Given the description of an element on the screen output the (x, y) to click on. 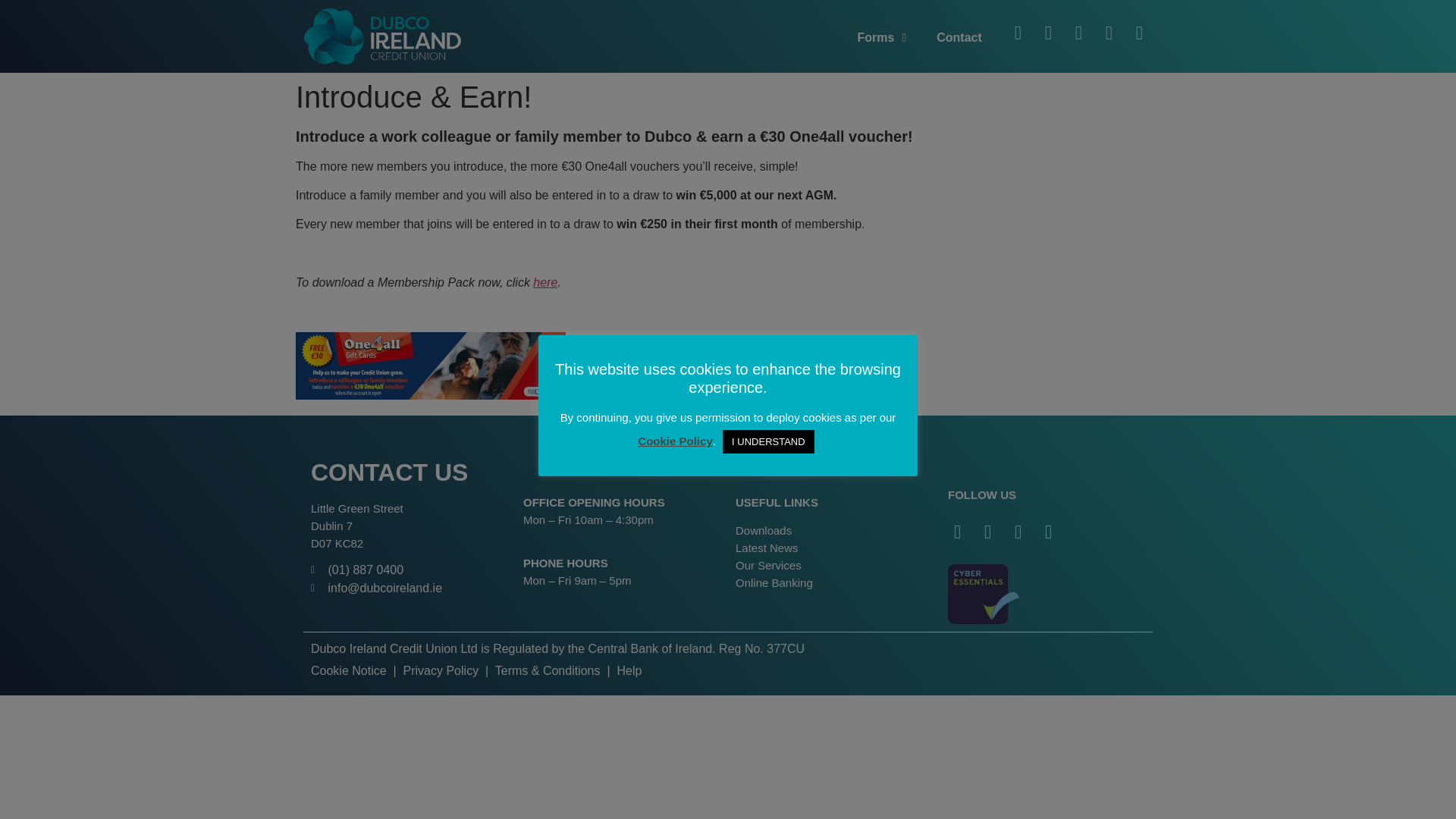
Privacy Policy (441, 670)
Latest News (766, 547)
here (544, 282)
Cookie Notice  (350, 670)
Our Services (768, 564)
Online Banking (773, 582)
Cookie Policy (674, 440)
Help (628, 670)
Downloads (763, 530)
I UNDERSTAND (767, 441)
Forms (881, 37)
Contact (959, 37)
